Given the description of an element on the screen output the (x, y) to click on. 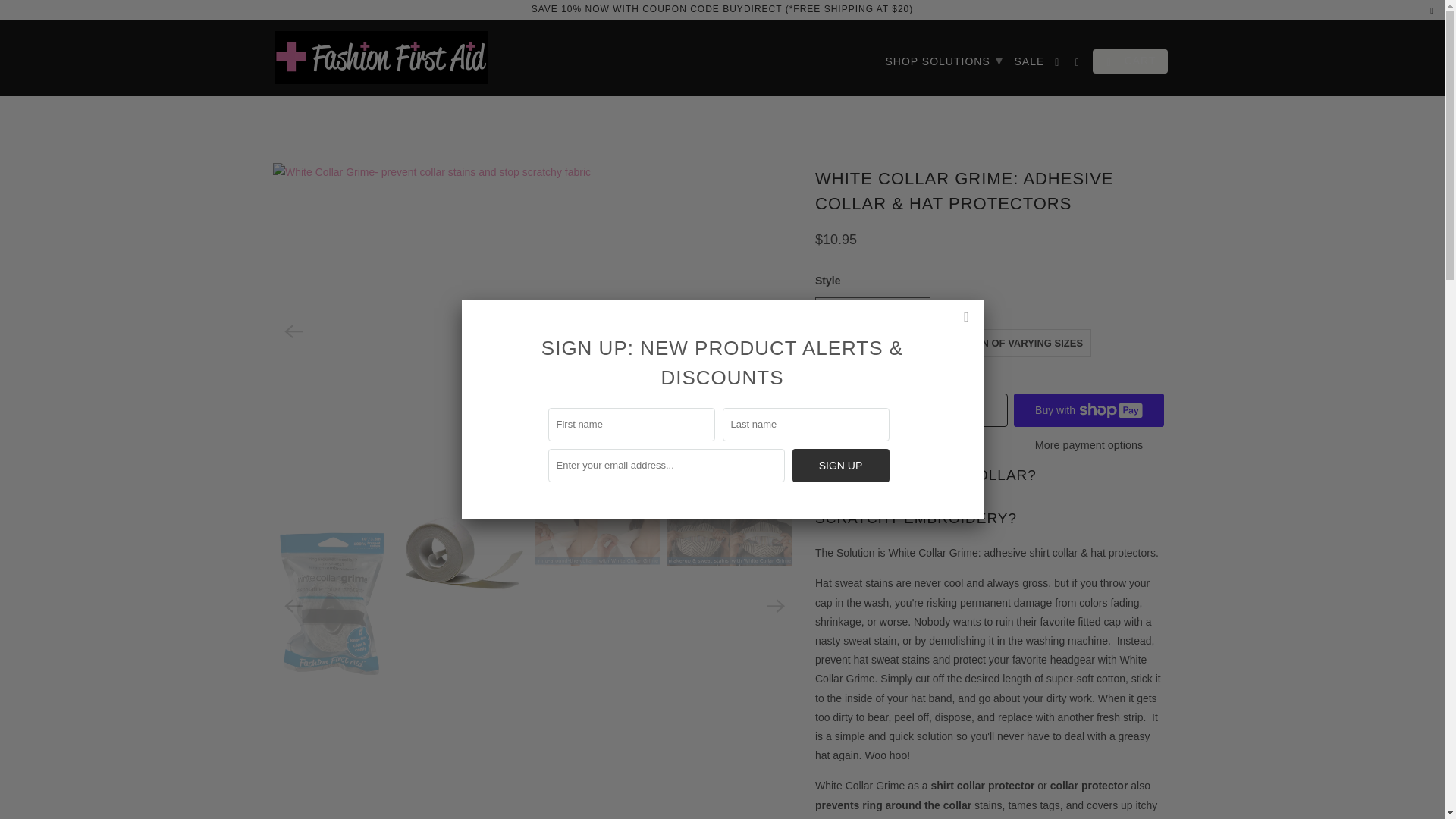
Sign Up (840, 465)
1 (833, 409)
More payment options (1088, 449)
ADD TO CART (932, 409)
